Given the description of an element on the screen output the (x, y) to click on. 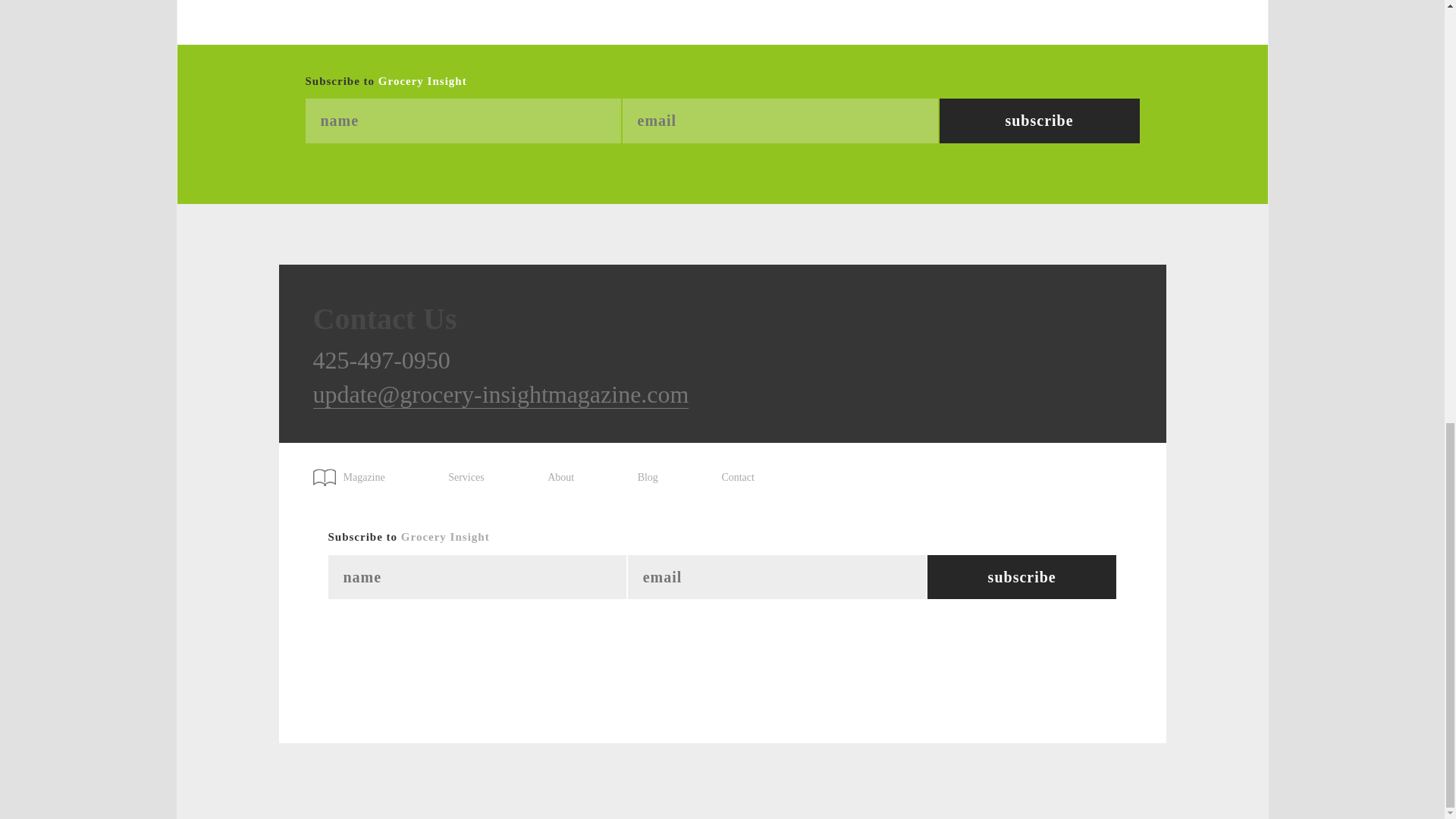
Subscribe (1021, 577)
Subscribe (1038, 120)
Subscribe (1021, 577)
Services (465, 477)
Contact (737, 477)
About (560, 477)
Magazine (355, 471)
Blog (647, 477)
Subscribe (1038, 120)
